Given the description of an element on the screen output the (x, y) to click on. 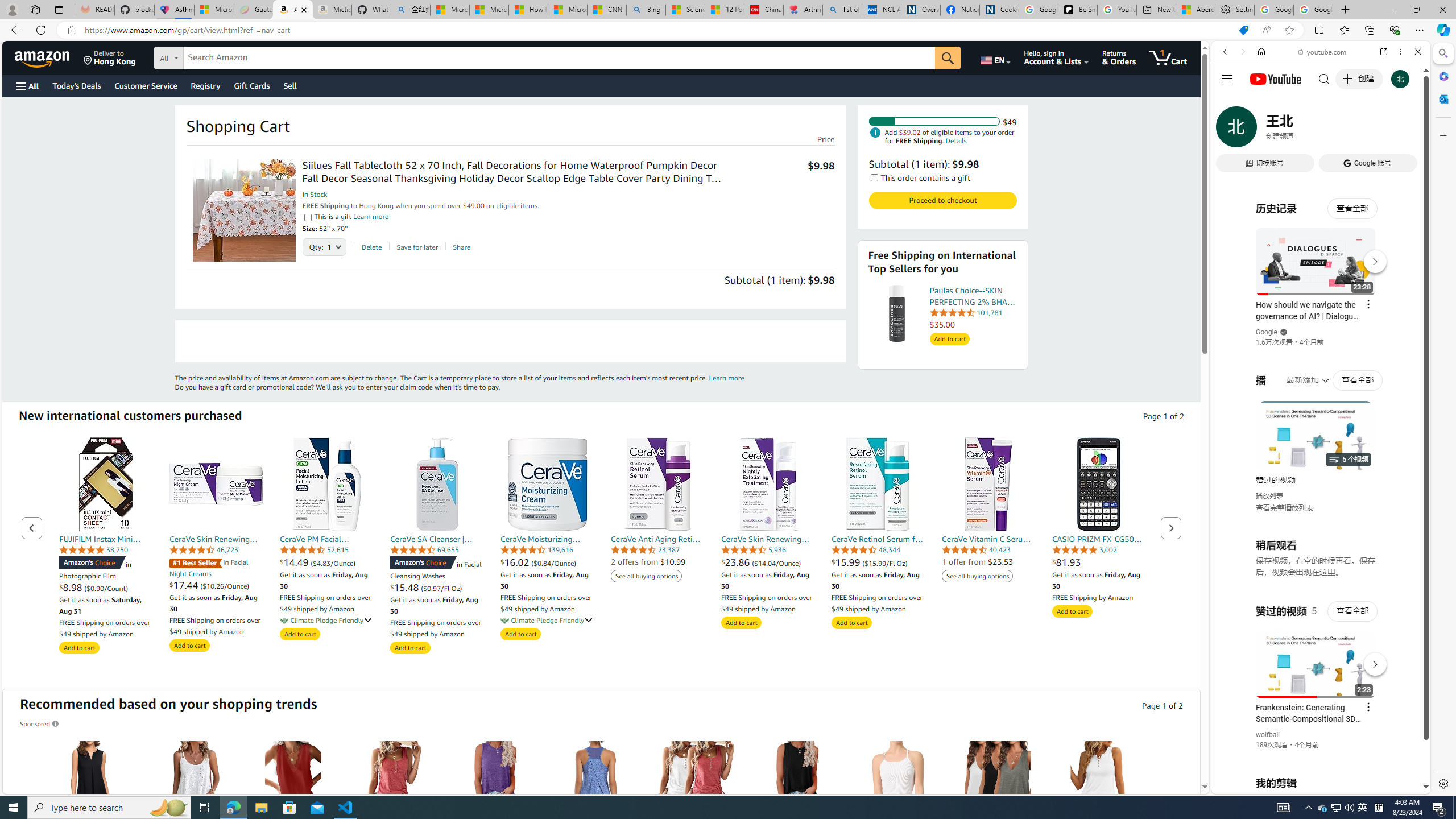
$23.86  (736, 562)
Climate Pledge Friendly (504, 619)
